Given the description of an element on the screen output the (x, y) to click on. 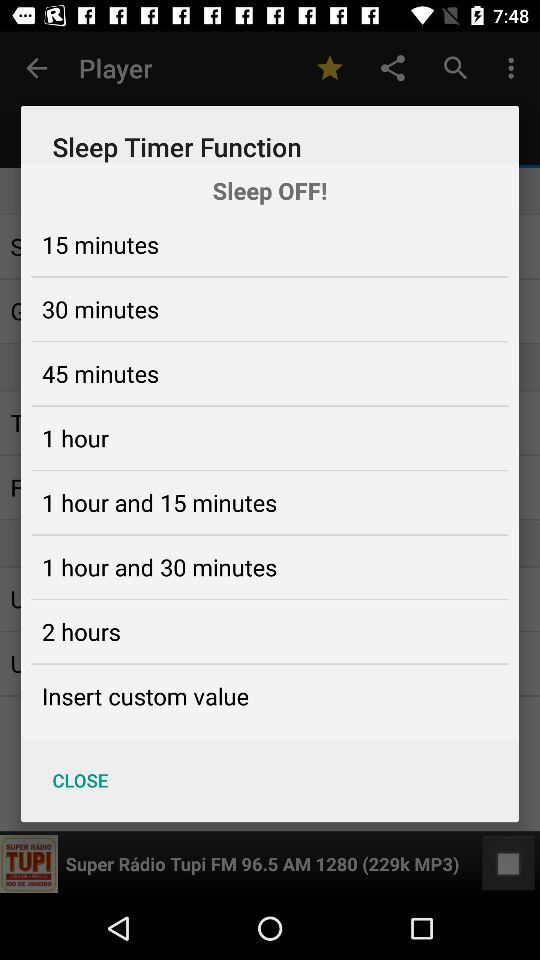
flip until the close item (80, 779)
